Given the description of an element on the screen output the (x, y) to click on. 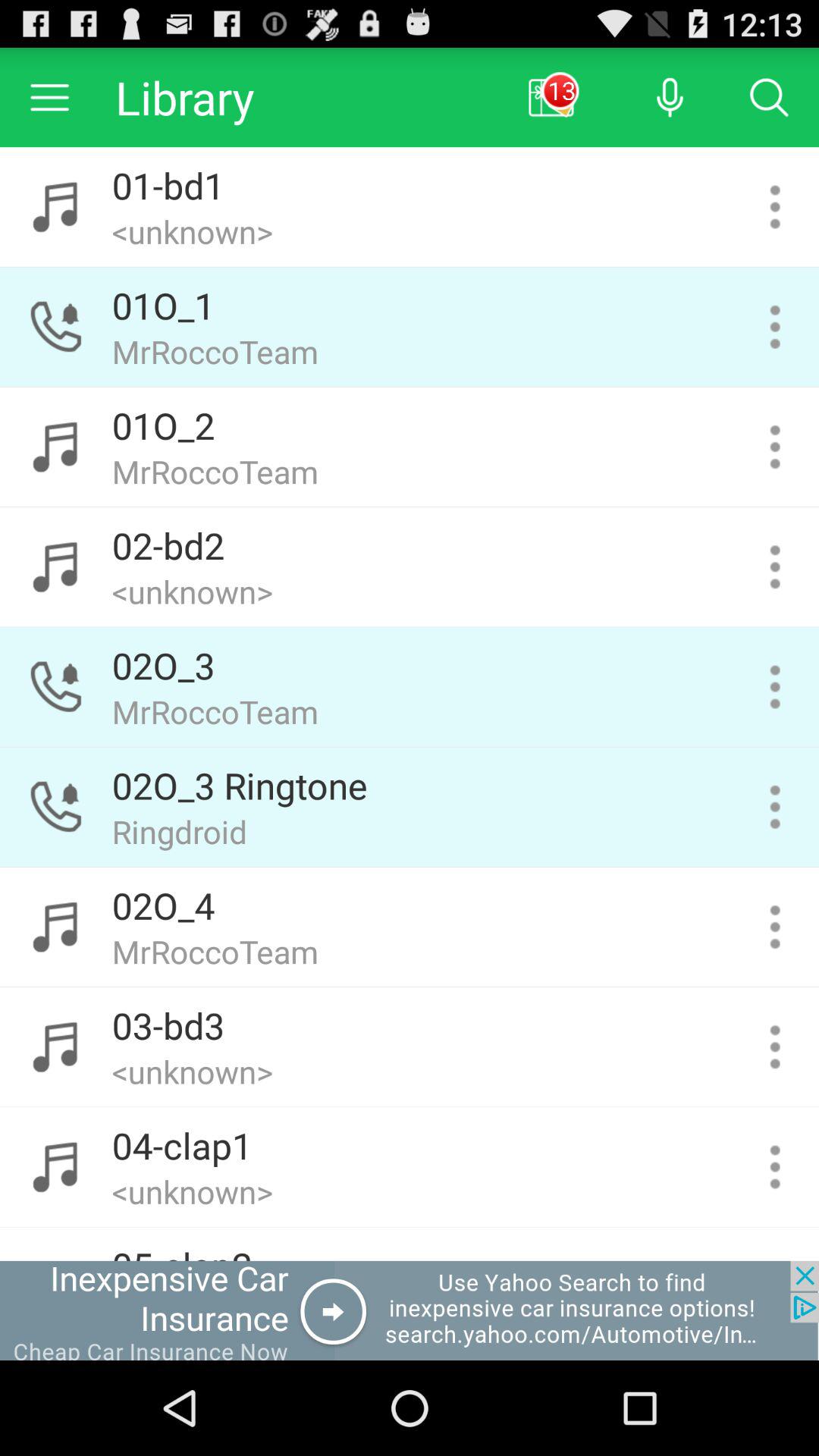
make advertisement (409, 1310)
